Given the description of an element on the screen output the (x, y) to click on. 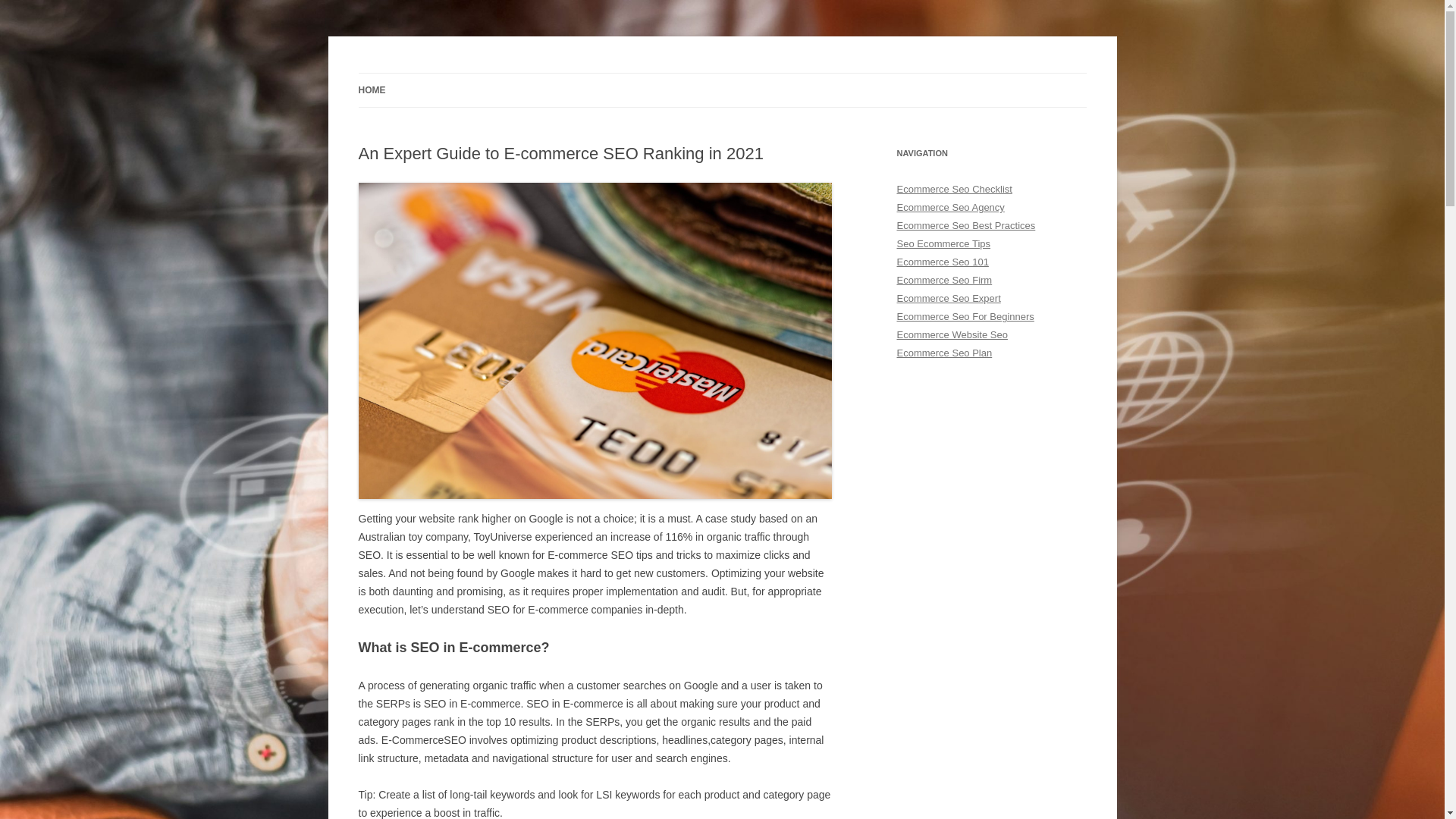
Ecommerce Seo Plan Element type: text (943, 352)
Ecommerce Seo Firm Element type: text (943, 279)
HOME Element type: text (371, 89)
Ecommerce Seo Expert Element type: text (948, 298)
Ecommerce Seo Agency Element type: text (950, 207)
Seo Ecommerce Tips Element type: text (943, 243)
Skip to content Element type: text (721, 72)
Ecommerce Seo Checklist Element type: text (953, 188)
Ecommerce Seo For Beginners Element type: text (964, 316)
Ecommerce Seo 101 Element type: text (942, 261)
Ecommerce Seo Best Practices Element type: text (965, 225)
E-commerce SEO Element type: text (440, 72)
Ecommerce Website Seo Element type: text (951, 334)
